Given the description of an element on the screen output the (x, y) to click on. 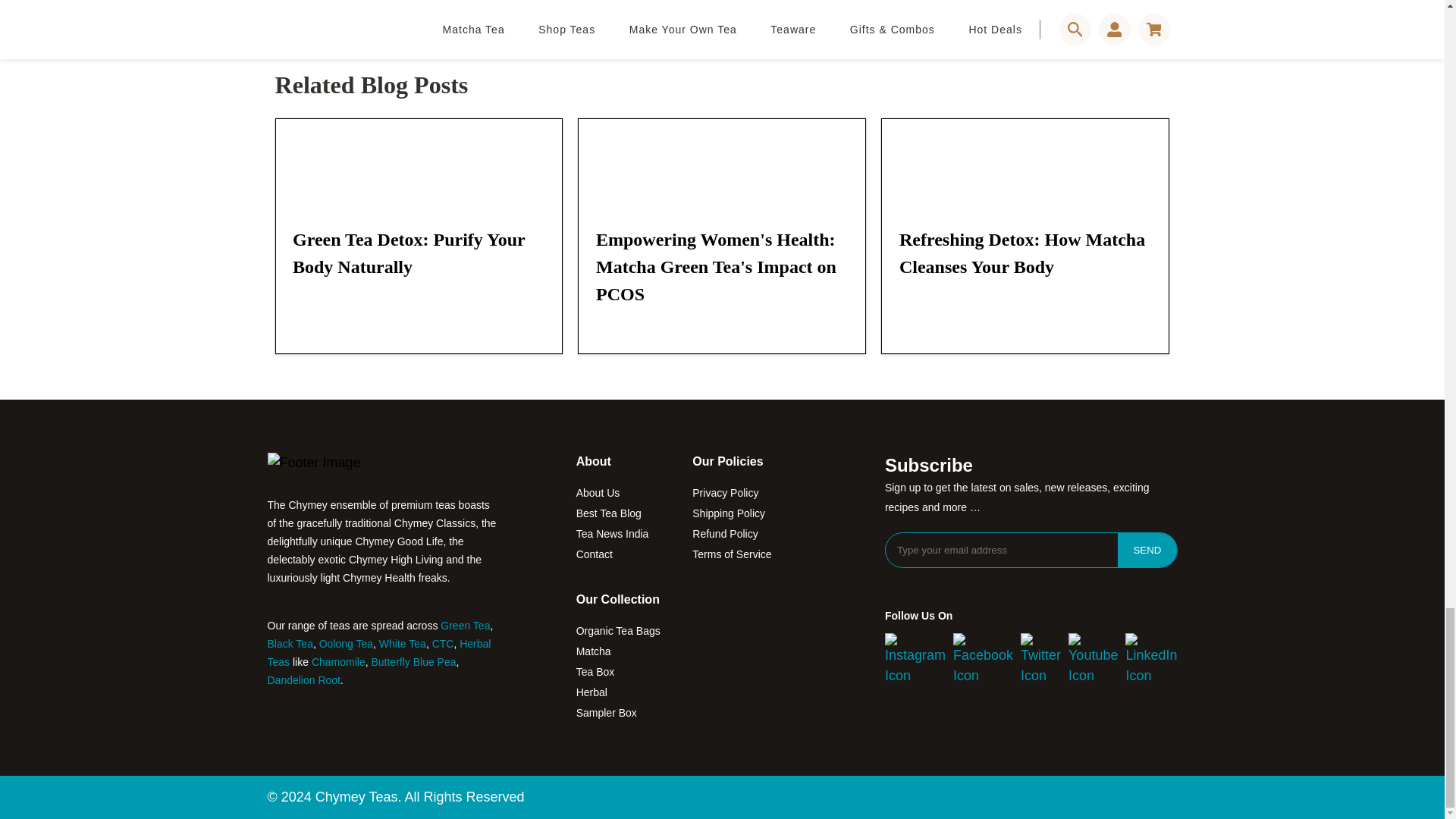
Submit (304, 38)
Refreshing Detox: How Matcha Cleanses Your Body (1021, 253)
Green Tea Detox: Purify Your Body Naturally (419, 163)
Empowering Women's Health: Matcha Green Tea's Impact on PCOS (721, 163)
Empowering Women's Health: Matcha Green Tea's Impact on PCOS (715, 266)
Refreshing Detox: How Matcha Cleanses Your Body (1025, 163)
Green Tea Detox: Purify Your Body Naturally (408, 253)
SEND (1147, 550)
